Given the description of an element on the screen output the (x, y) to click on. 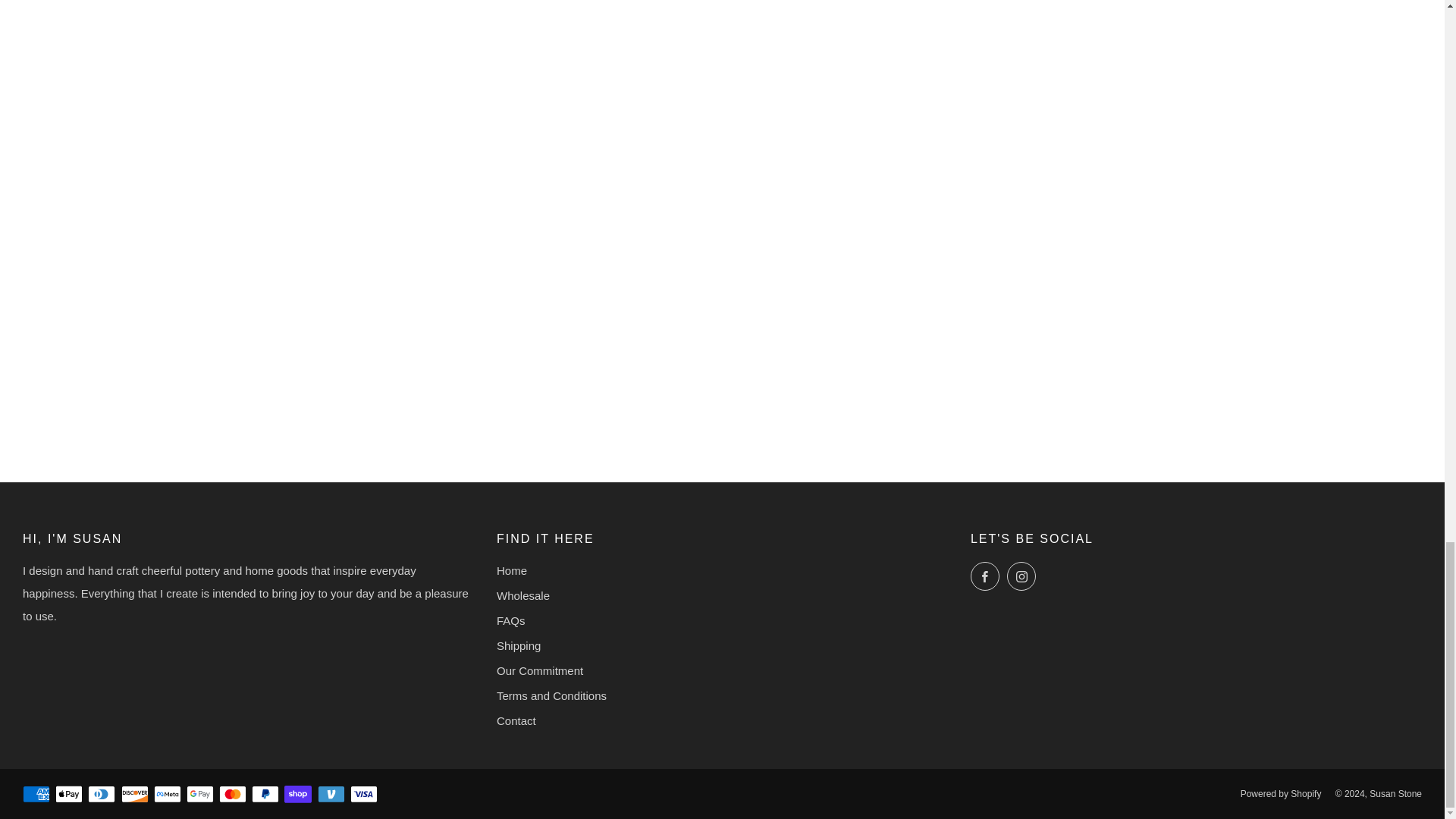
Venmo (331, 794)
Mastercard (232, 794)
Meta Pay (167, 794)
Diners Club (101, 794)
Google Pay (200, 794)
Apple Pay (68, 794)
Shop Pay (297, 794)
Visa (363, 794)
American Express (36, 794)
Discover (134, 794)
PayPal (265, 794)
